Given the description of an element on the screen output the (x, y) to click on. 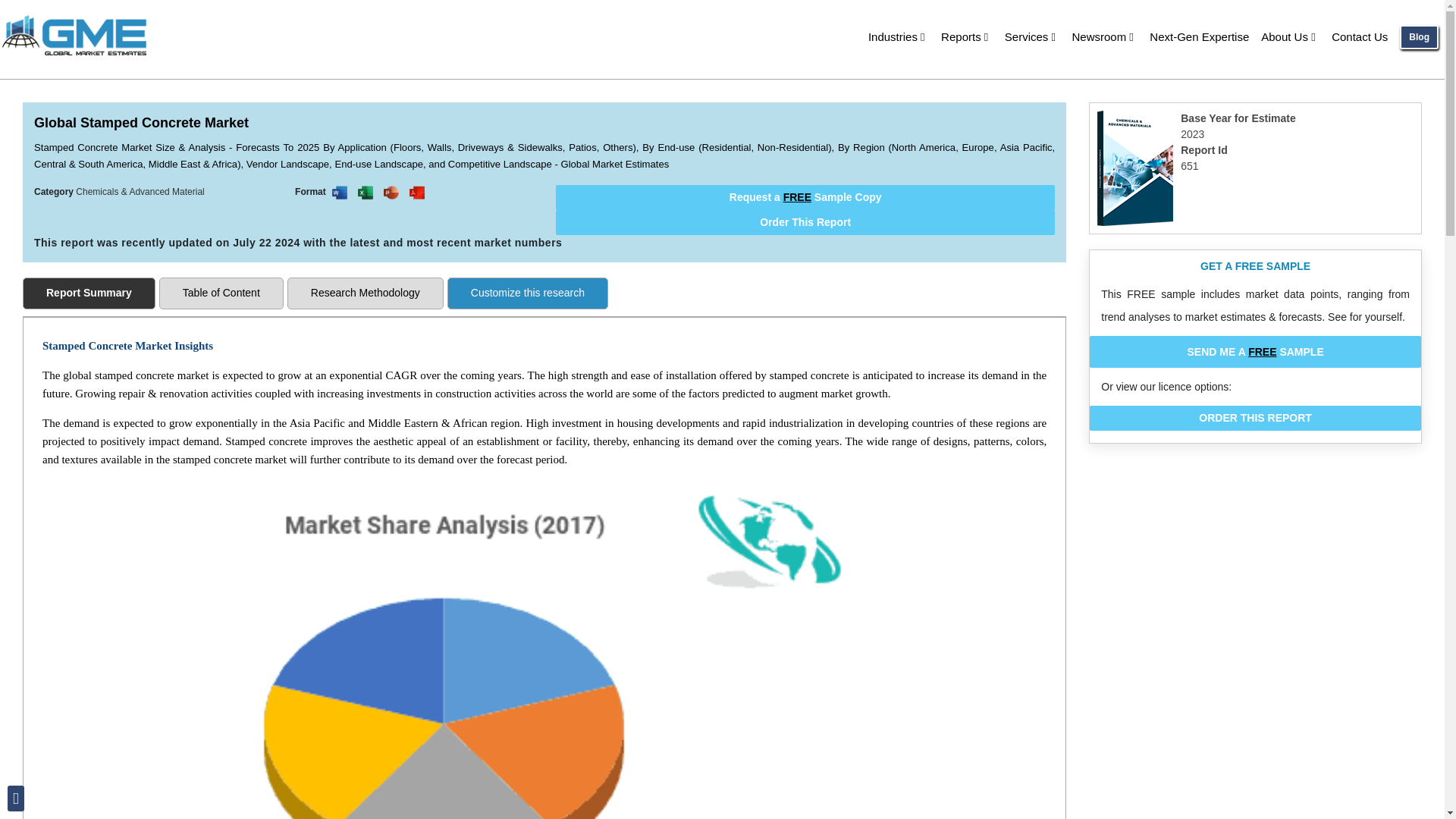
This report is available in PPT format (391, 192)
Industries (897, 37)
This report is available as WORD DOCUMENT (339, 192)
This report is available in EXCEL SHEET format (365, 192)
This report is available in PDF format (417, 192)
